Given the description of an element on the screen output the (x, y) to click on. 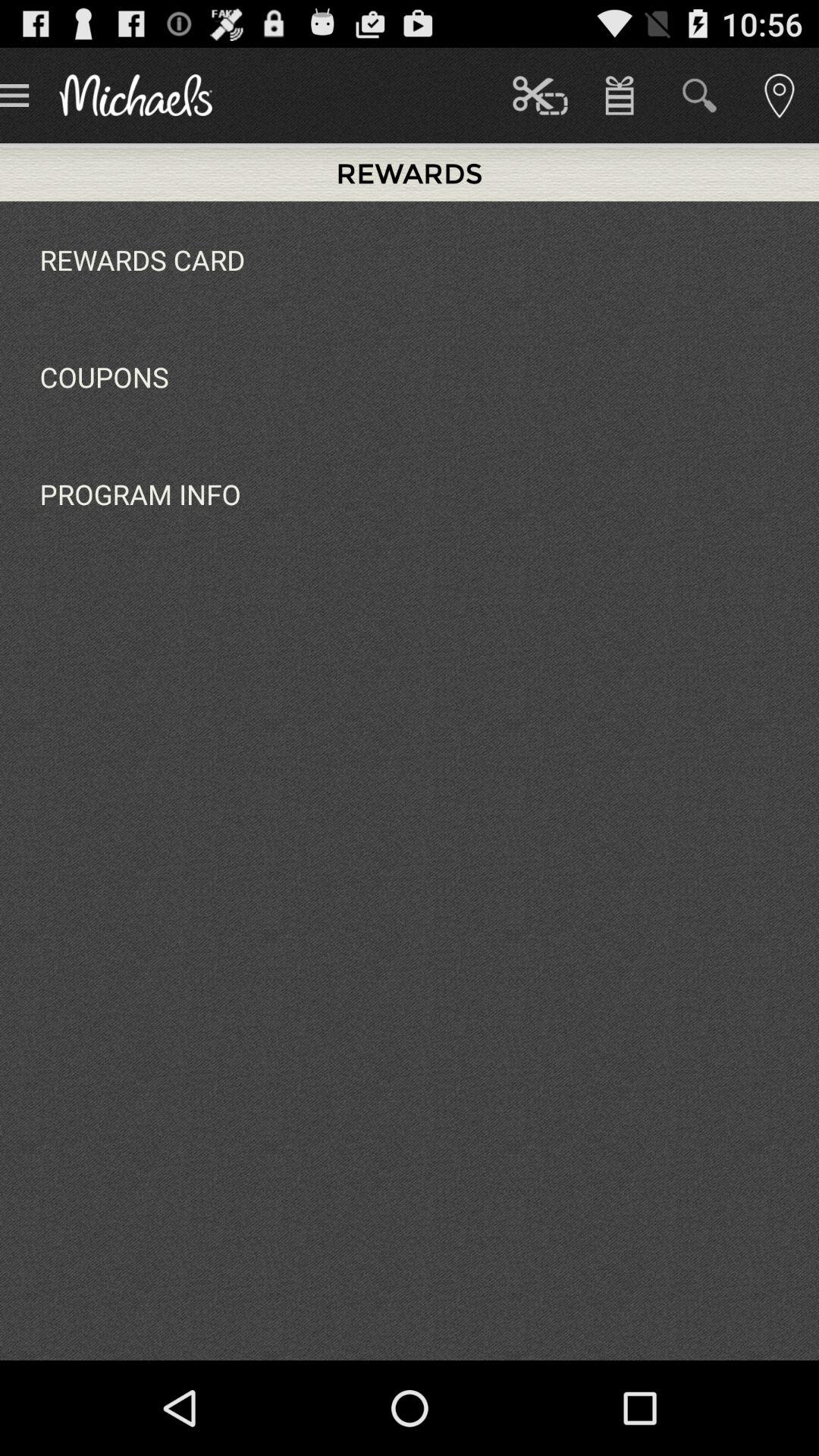
flip until program info app (140, 494)
